Given the description of an element on the screen output the (x, y) to click on. 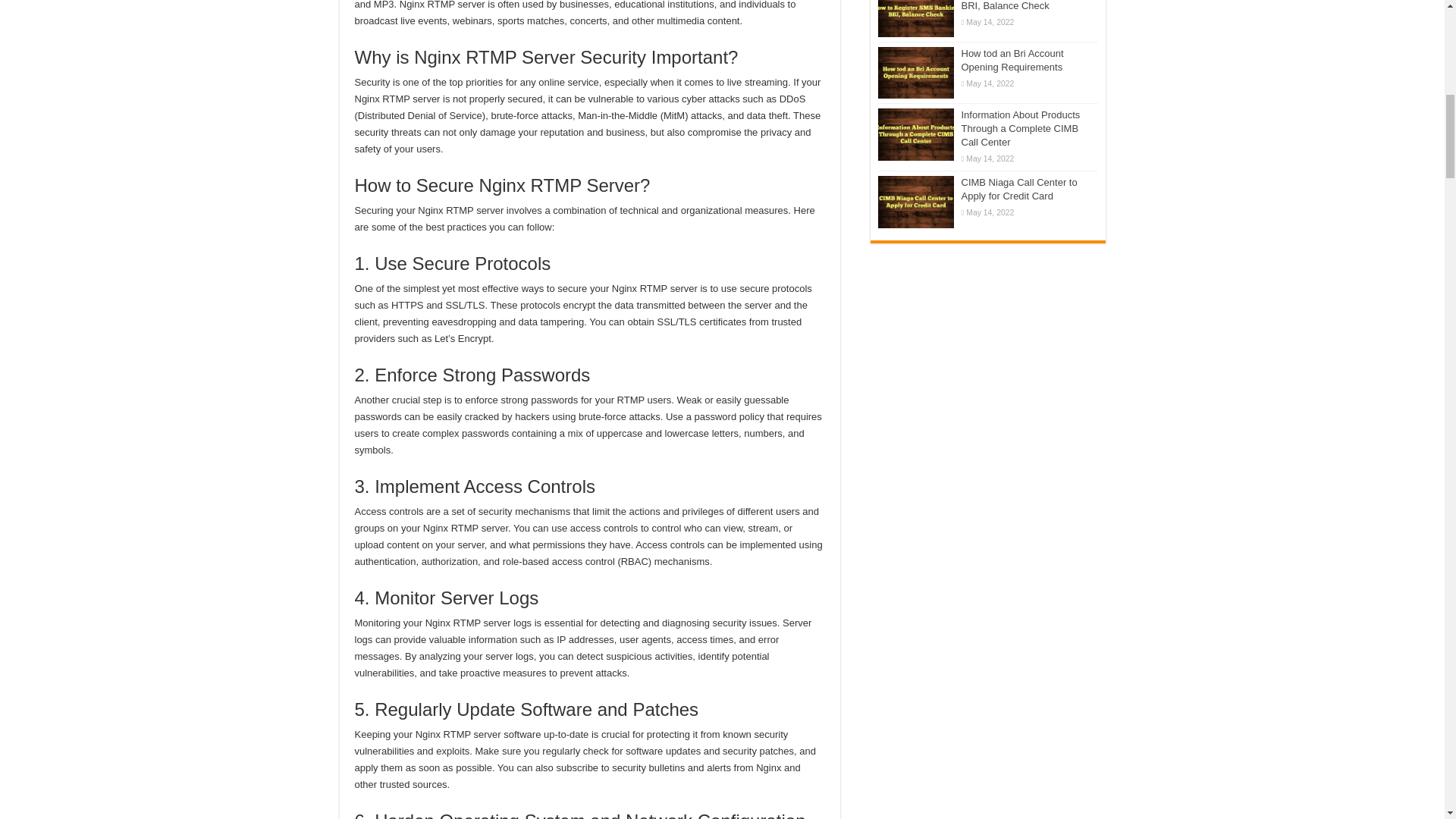
CIMB Niaga Call Center to Apply for Credit Card (915, 201)
How to Register SMS Banking BRI, Balance Check (915, 18)
Advertisement (987, 345)
How tod an Bri Account Opening Requirements (915, 72)
